Given the description of an element on the screen output the (x, y) to click on. 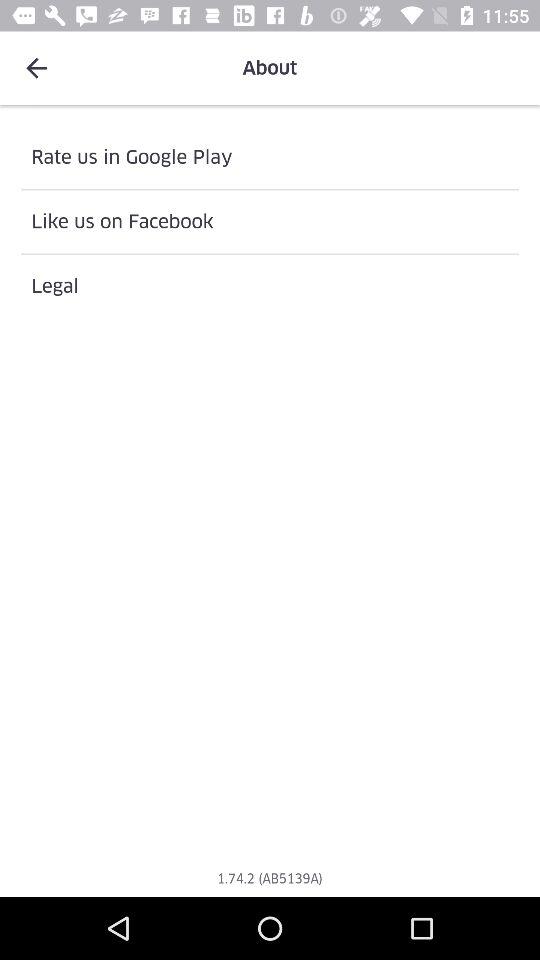
select like us on icon (270, 221)
